Given the description of an element on the screen output the (x, y) to click on. 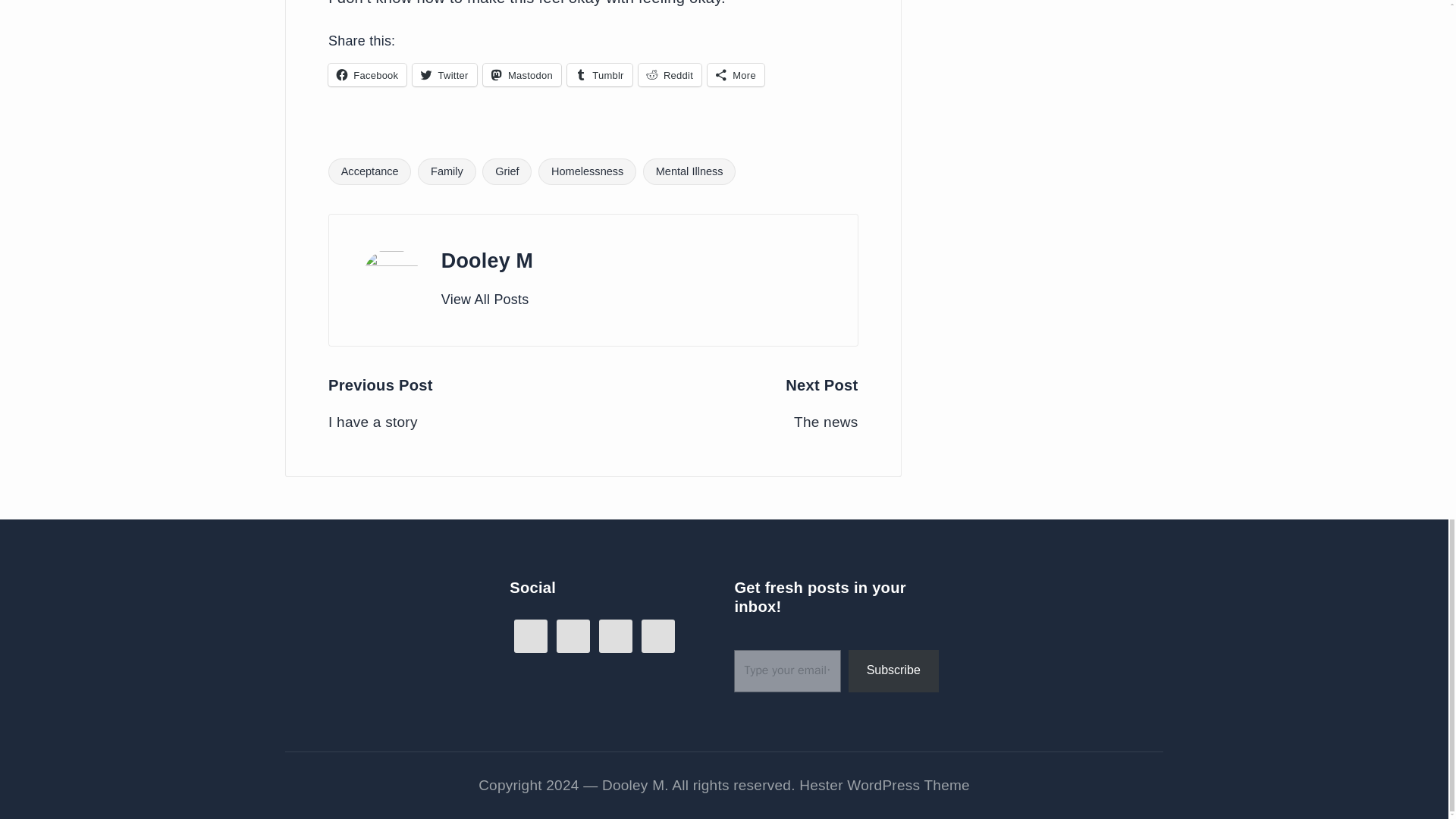
Click to share on Mastodon (521, 74)
Acceptance (369, 171)
View All Posts (485, 299)
Click to share on Facebook (367, 74)
Please fill in this field. (786, 671)
Click to share on Reddit (670, 74)
Mastodon (521, 74)
Click to share on Twitter (444, 74)
I have a story (460, 422)
Homelessness (587, 171)
